Given the description of an element on the screen output the (x, y) to click on. 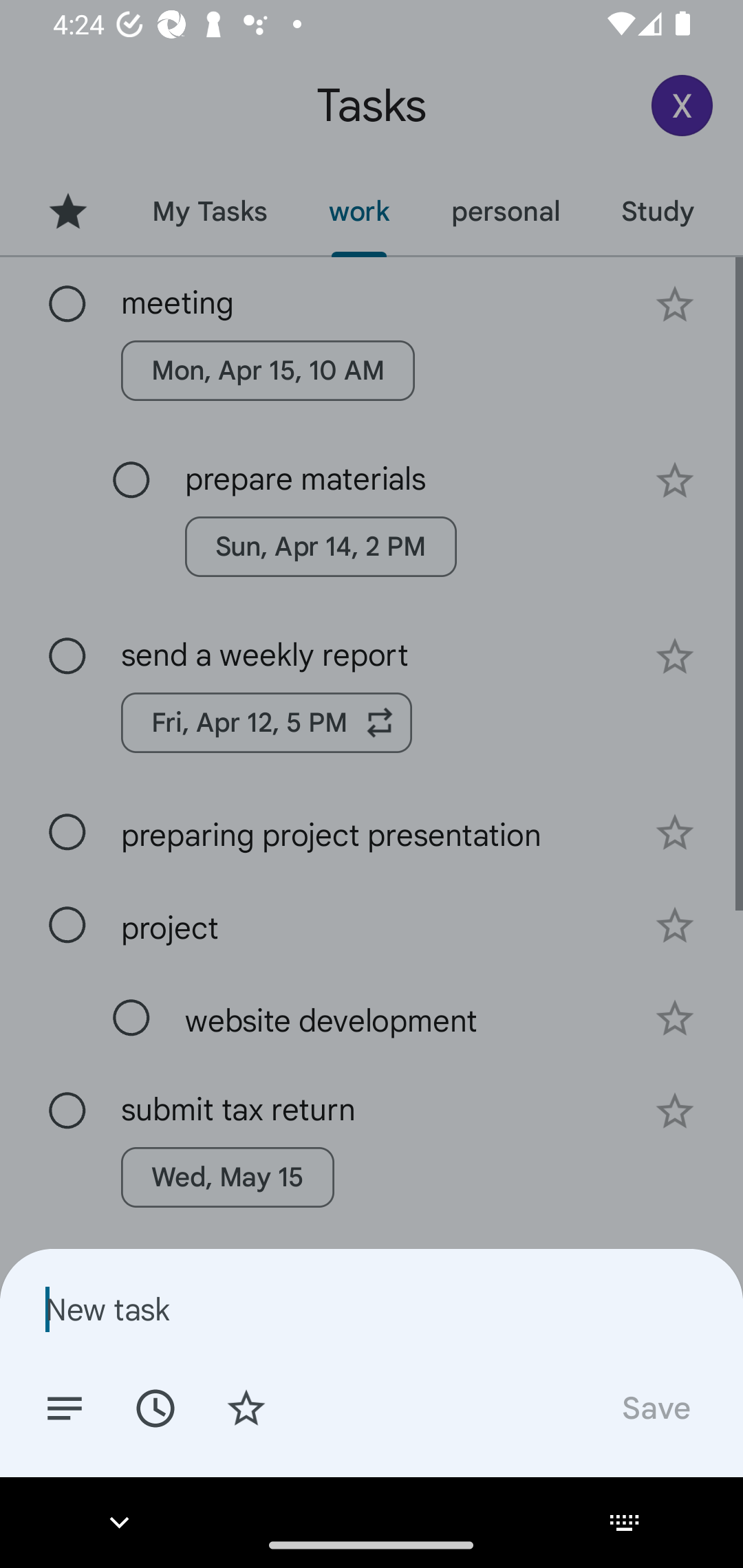
New task (371, 1308)
Save (655, 1407)
Add details (64, 1407)
Set date/time (154, 1407)
Add star (245, 1407)
